Given the description of an element on the screen output the (x, y) to click on. 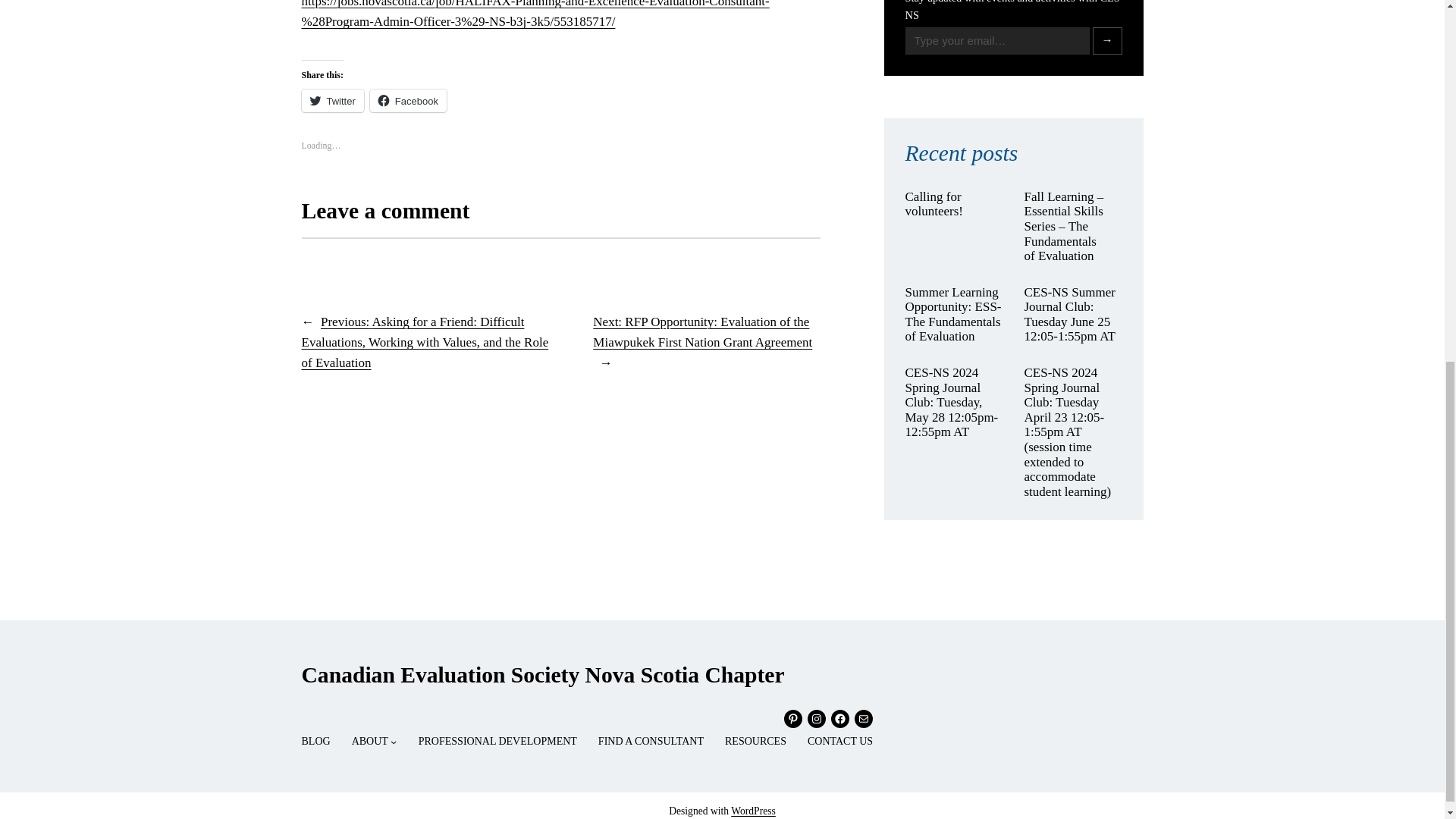
Calling for volunteers! (954, 204)
BLOG (315, 741)
CES-NS Summer Journal Club: Tuesday June 25 12:05-1:55pm AT (1072, 314)
Please fill in this field. (997, 40)
Click to share on Facebook (407, 100)
ABOUT (370, 741)
